Given the description of an element on the screen output the (x, y) to click on. 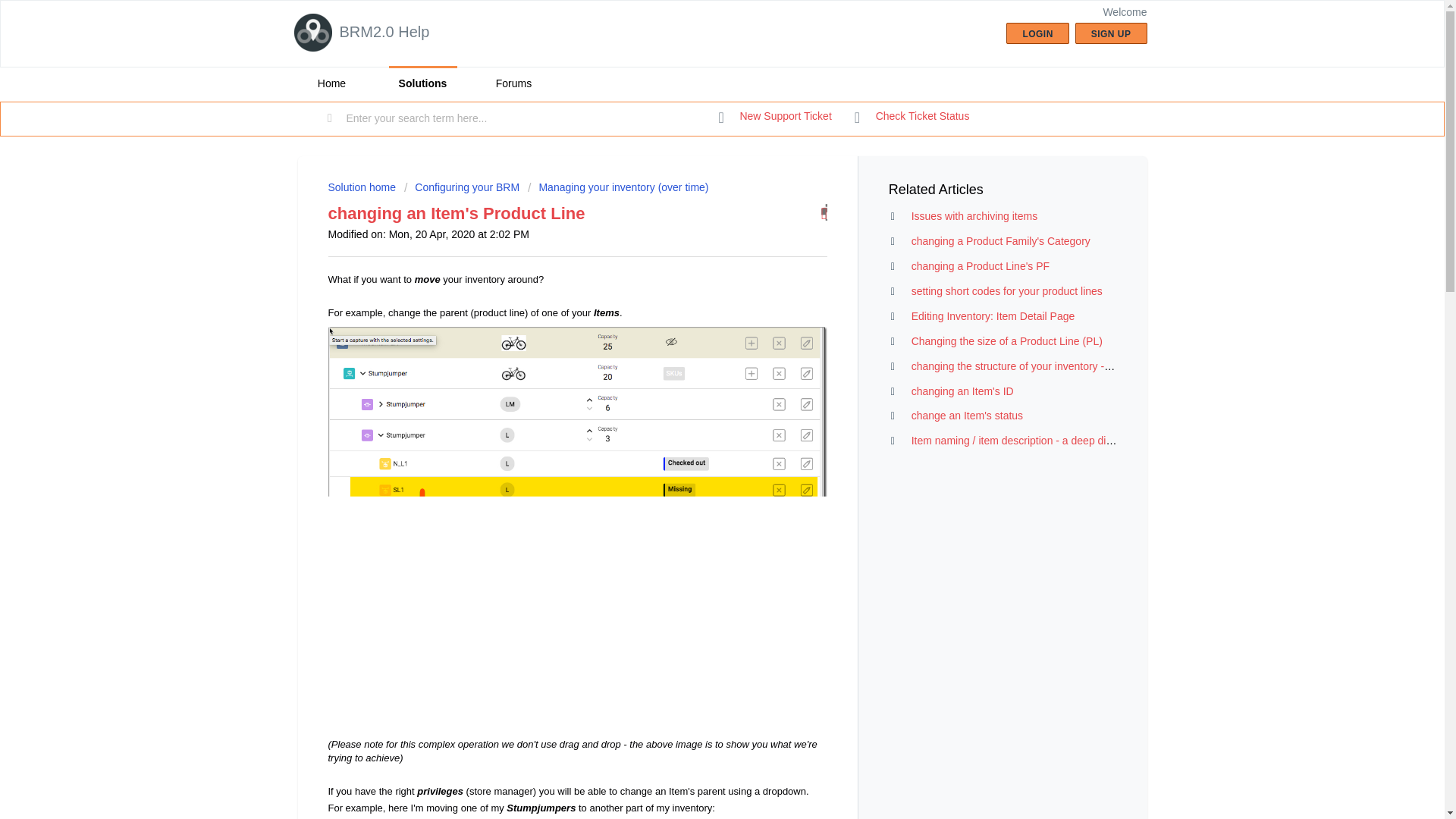
Configuring your BRM (461, 186)
Home (331, 83)
Solutions (422, 83)
Issues with archiving items (974, 215)
New support ticket (775, 116)
New Support Ticket (775, 116)
Editing Inventory: Item Detail Page (993, 316)
LOGIN (1037, 33)
Solution home (362, 186)
